Given the description of an element on the screen output the (x, y) to click on. 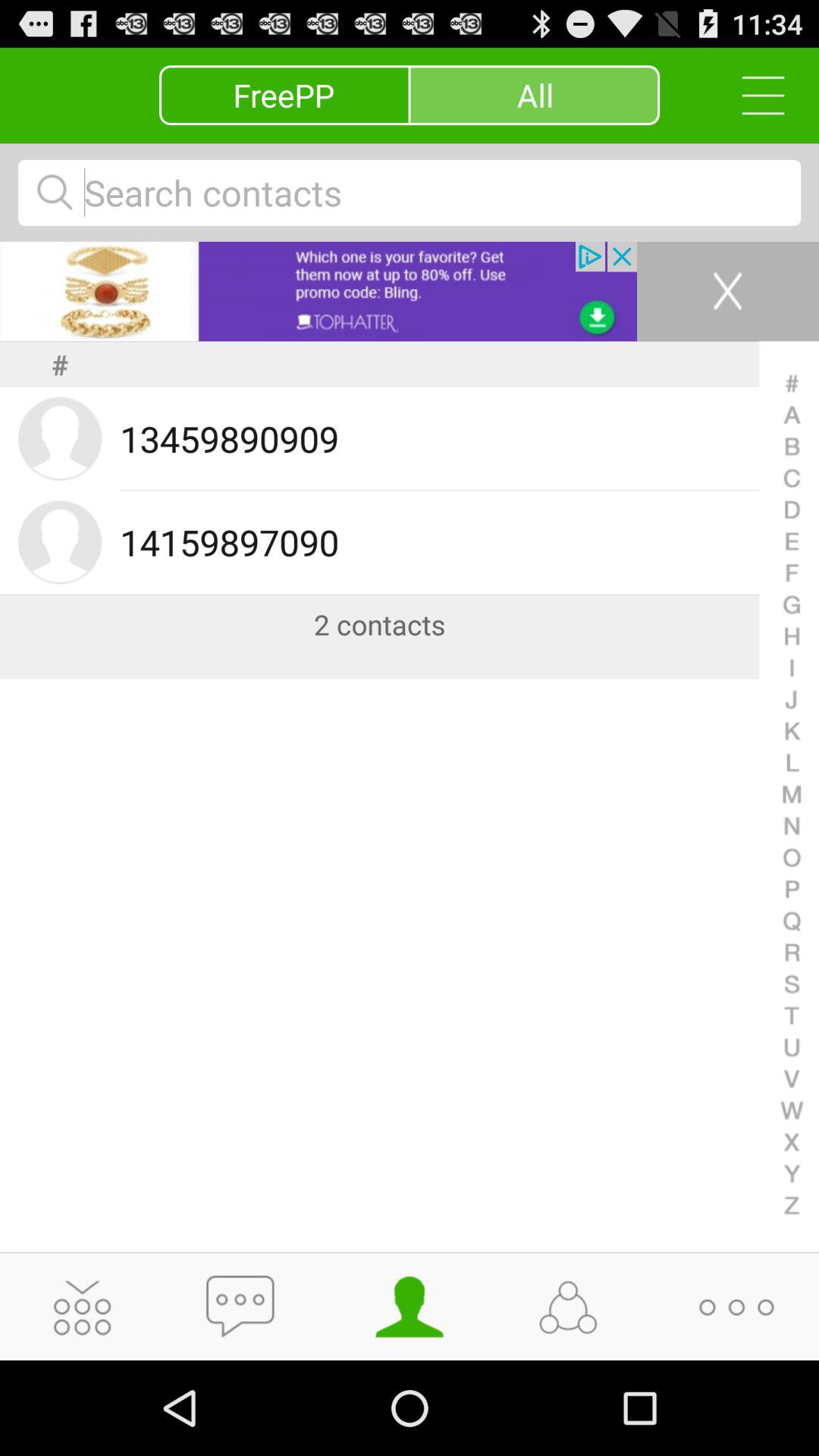
click on the text icon which is at the bottom of the iamge (244, 1310)
click share icon (573, 1309)
